Given the description of an element on the screen output the (x, y) to click on. 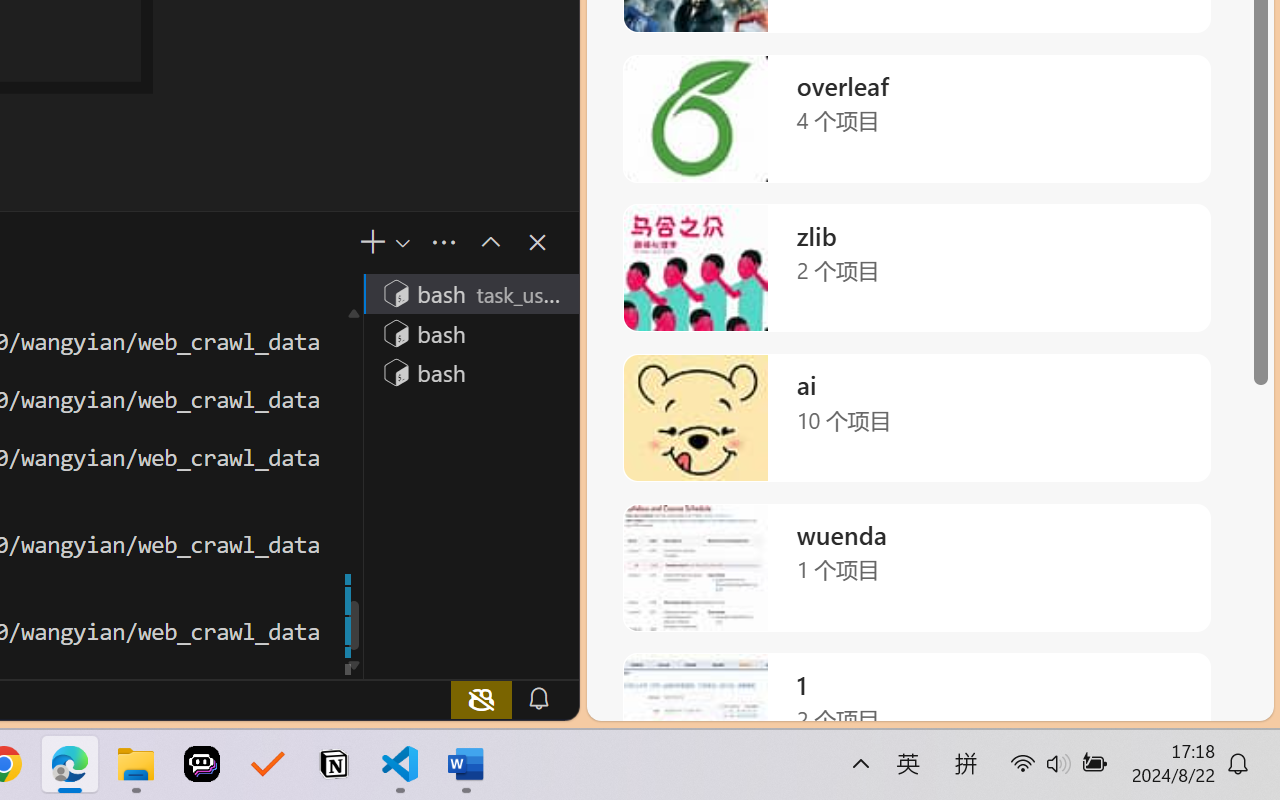
Class: xterm-decoration-overview-ruler (352, 486)
Terminal 3 bash (470, 372)
